Given the description of an element on the screen output the (x, y) to click on. 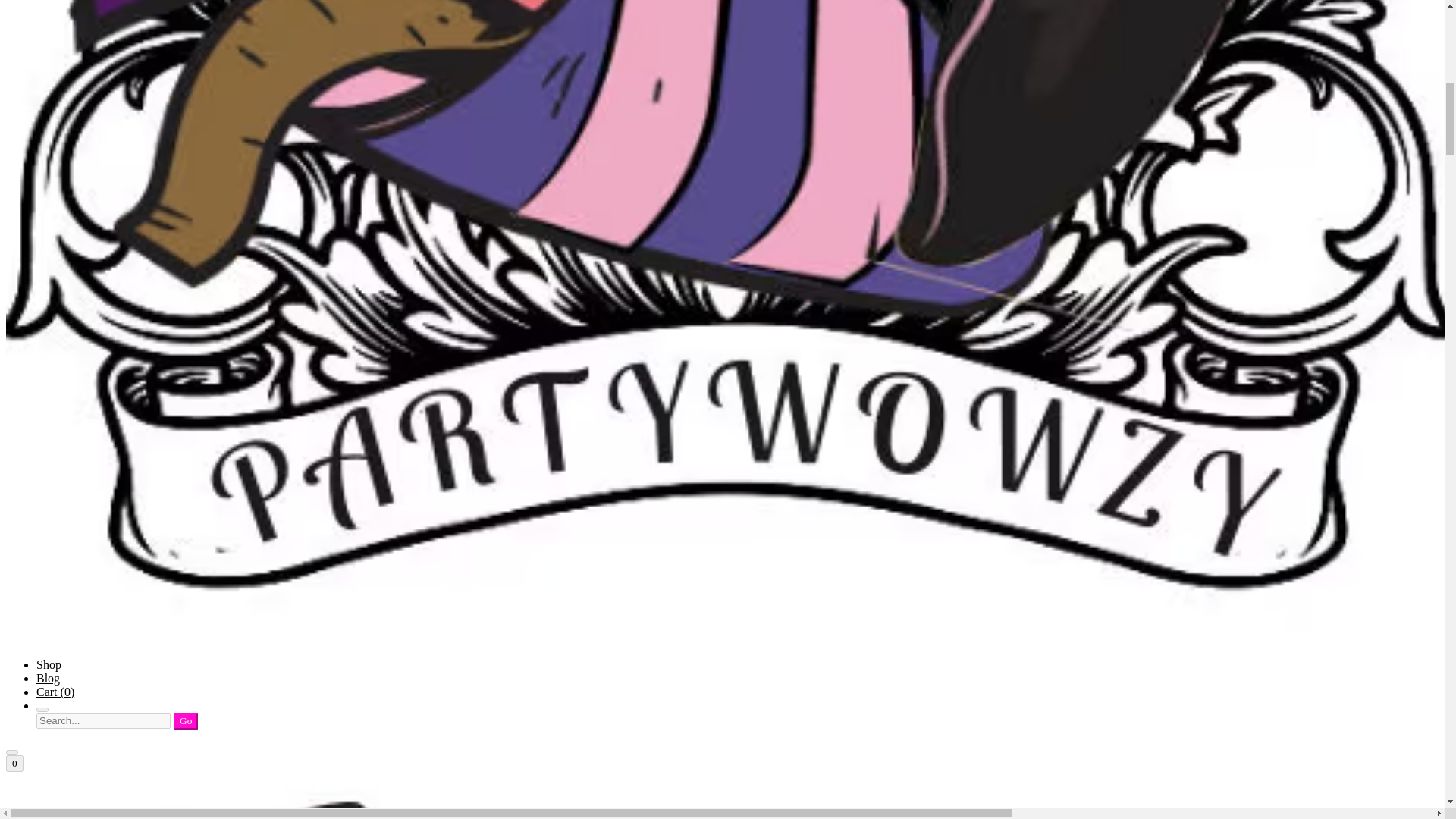
Go (185, 720)
Go (185, 720)
0 (14, 763)
Blog (47, 677)
Home (721, 803)
Shop (48, 664)
